Given the description of an element on the screen output the (x, y) to click on. 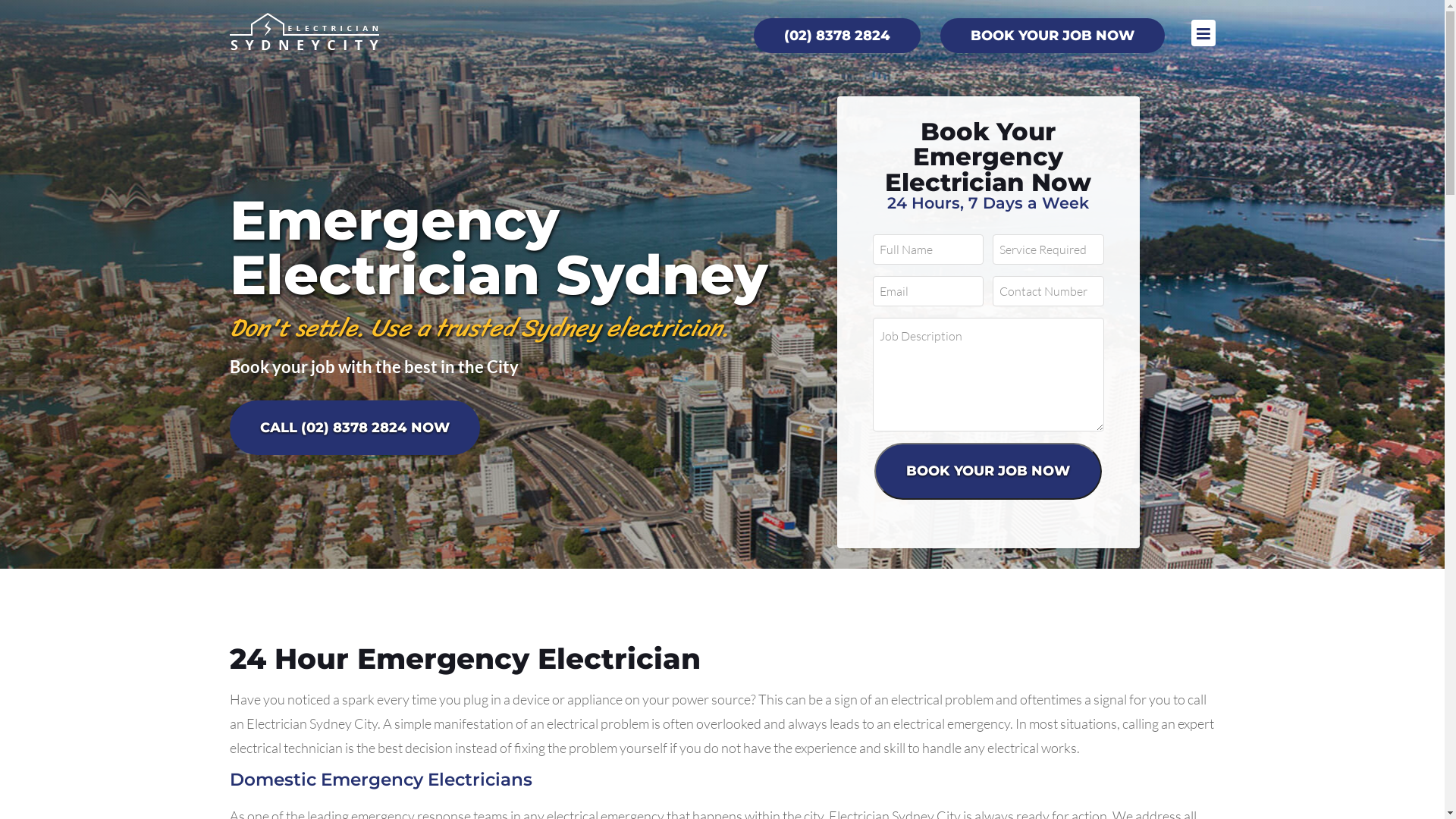
CALL (02) 8378 2824 NOW Element type: text (354, 426)
Book Your Job Now Element type: text (987, 471)
(02) 8378 2824 Element type: text (836, 34)
BOOK YOUR JOB NOW Element type: text (1052, 34)
